Given the description of an element on the screen output the (x, y) to click on. 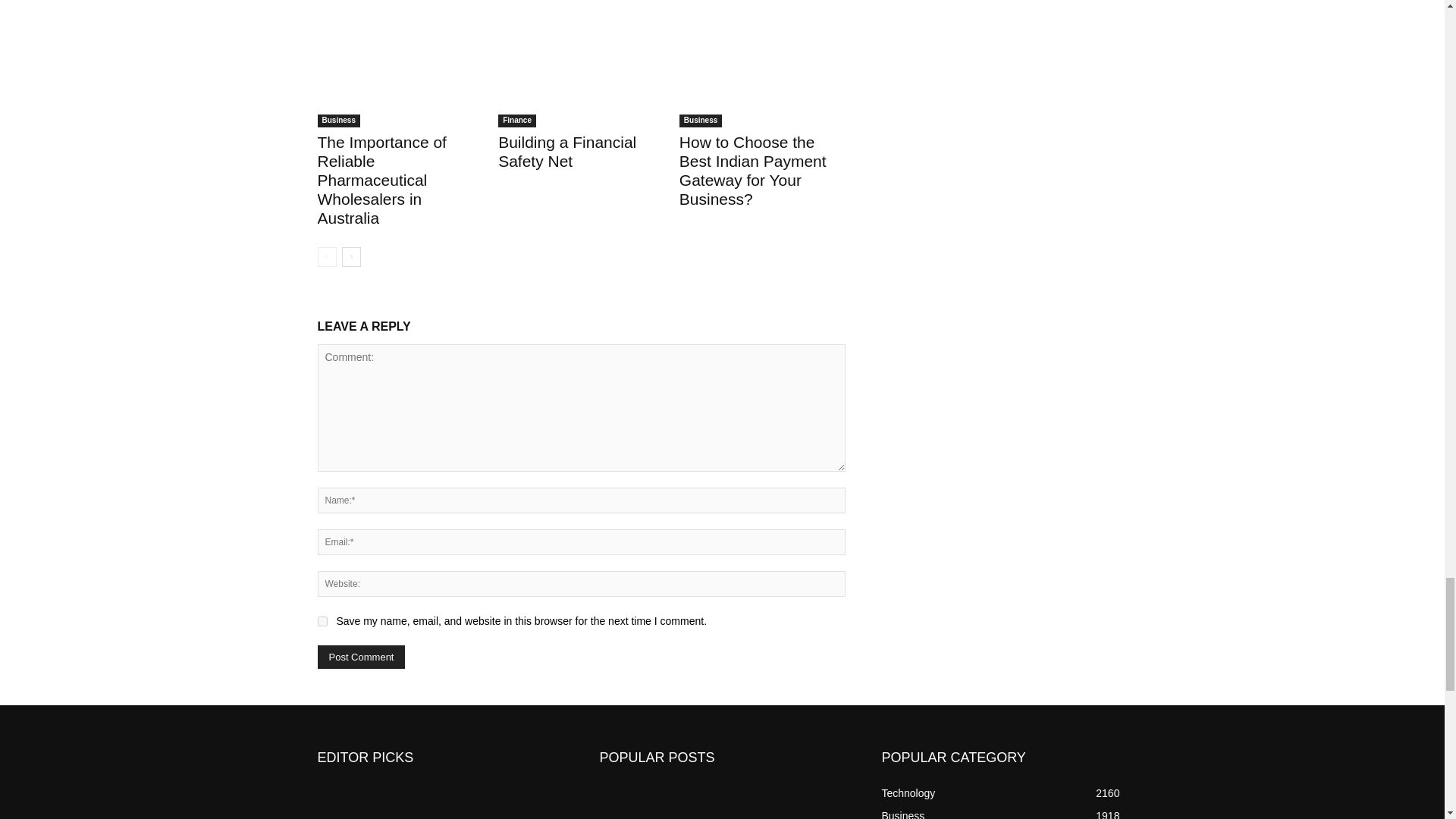
yes (321, 621)
Post Comment (360, 657)
